Given the description of an element on the screen output the (x, y) to click on. 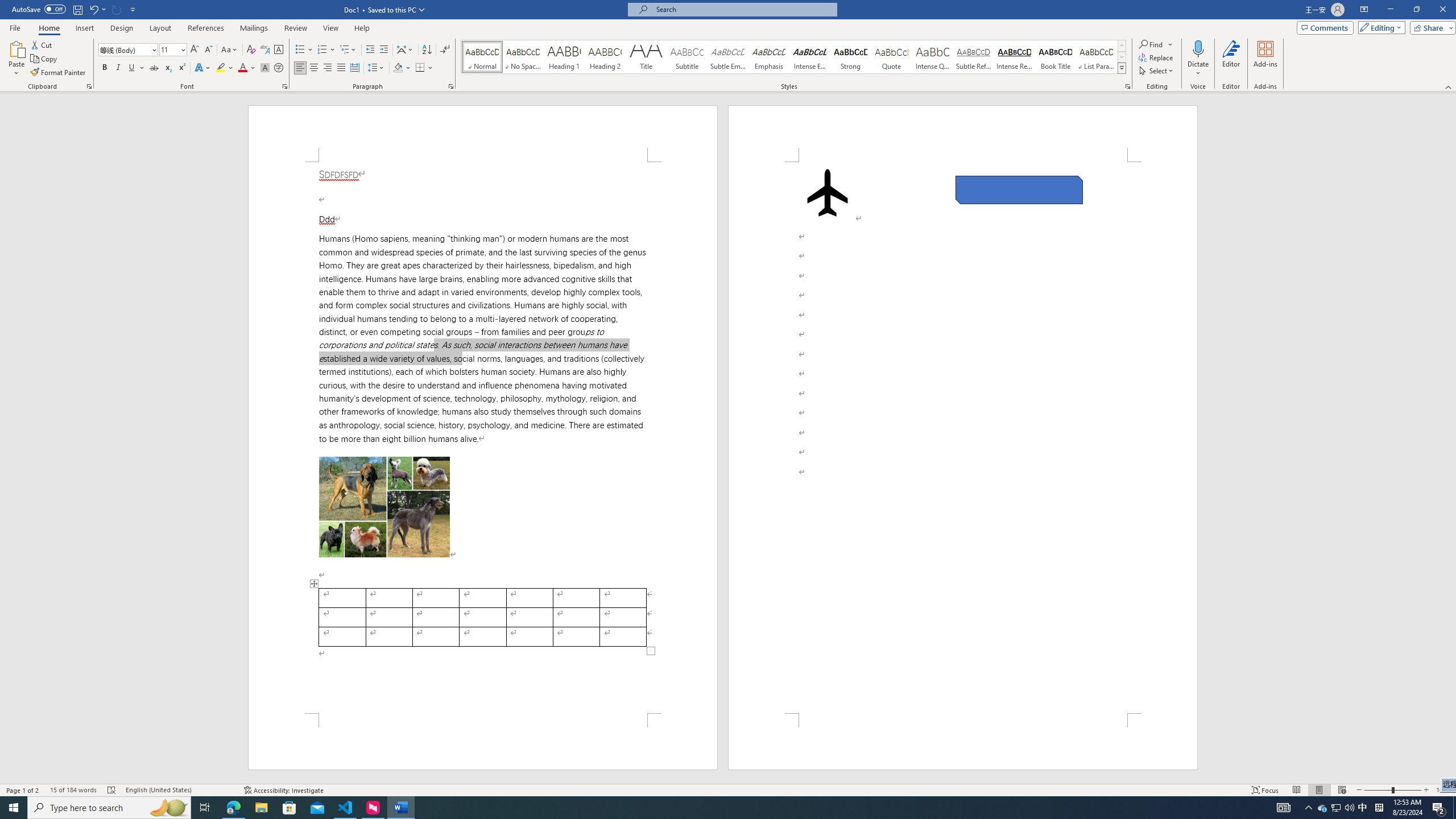
Subtle Emphasis (727, 56)
